Given the description of an element on the screen output the (x, y) to click on. 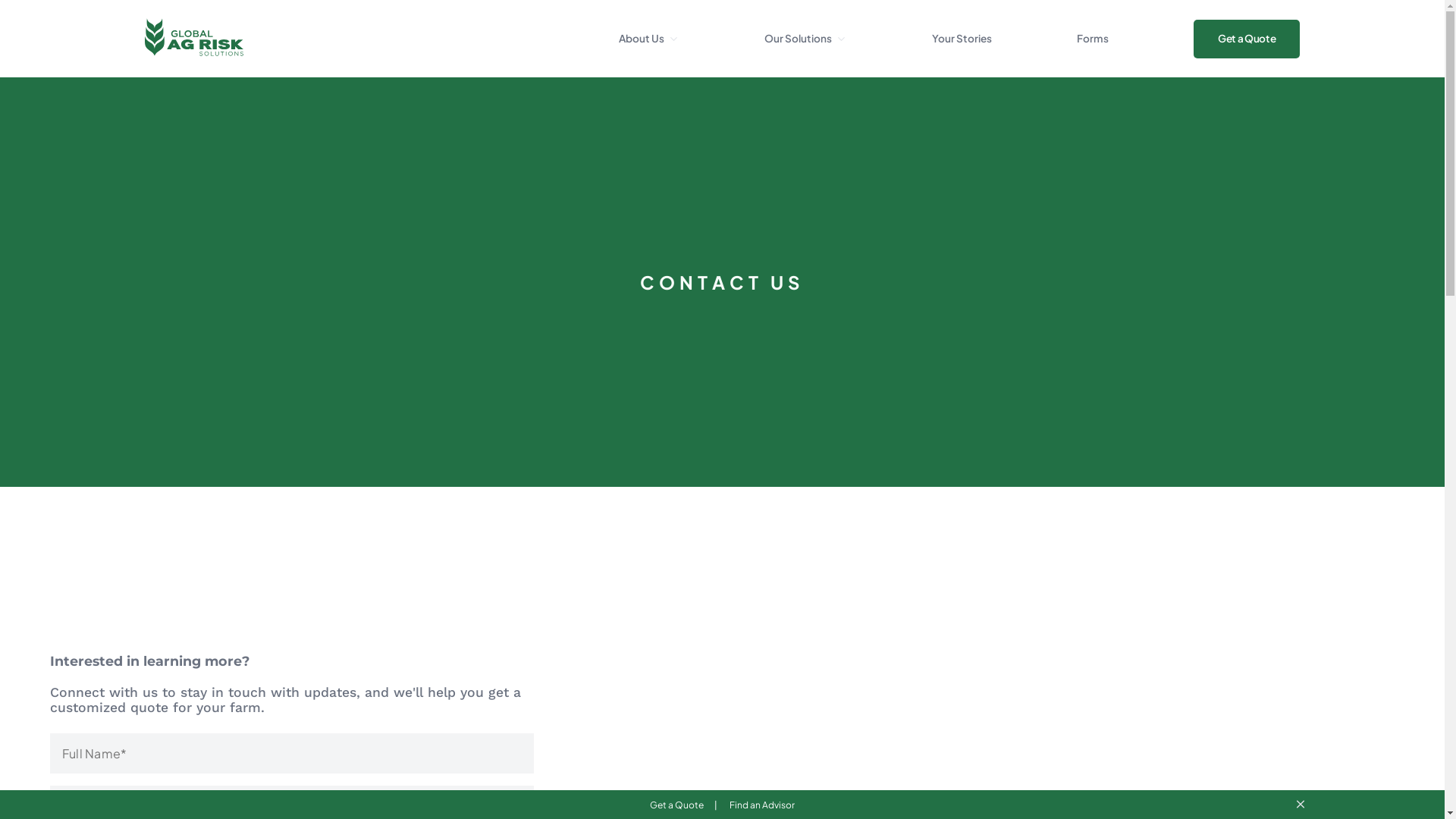
Your Stories Element type: text (961, 37)
Our Solutions Element type: text (797, 37)
About Us Element type: text (641, 37)
Forms Element type: text (1092, 37)
Get a Quote Element type: text (1246, 37)
Get a Quote Element type: text (677, 804)
Find an Advisor Element type: text (761, 804)
